Given the description of an element on the screen output the (x, y) to click on. 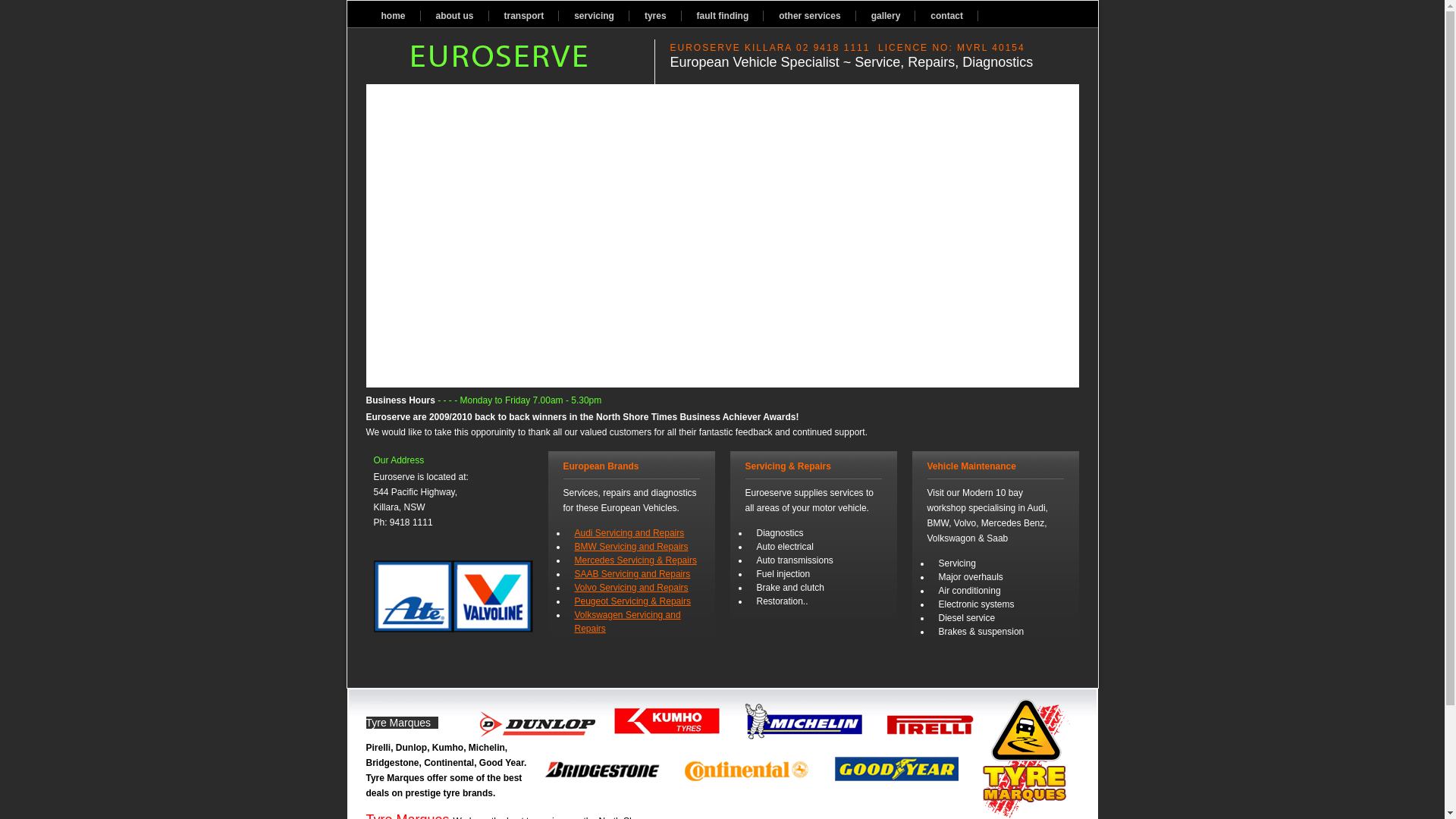
Audi Servicing and Repairs Element type: text (629, 532)
Mercedes Servicing & Repairs Element type: text (635, 560)
other services Element type: text (809, 15)
transport Element type: text (524, 15)
Volvo Servicing and Repairs Element type: text (631, 587)
BMW Servicing and Repairs Element type: text (631, 546)
Peugeot Servicing & Repairs Element type: text (632, 601)
SAAB Servicing and Repairs Element type: text (632, 573)
about us Element type: text (454, 15)
fault finding Element type: text (722, 15)
contact Element type: text (946, 15)
servicing Element type: text (593, 15)
gallery Element type: text (886, 15)
tyres Element type: text (655, 15)
home Element type: text (392, 15)
Volkswagen Servicing and Repairs Element type: text (627, 621)
